Given the description of an element on the screen output the (x, y) to click on. 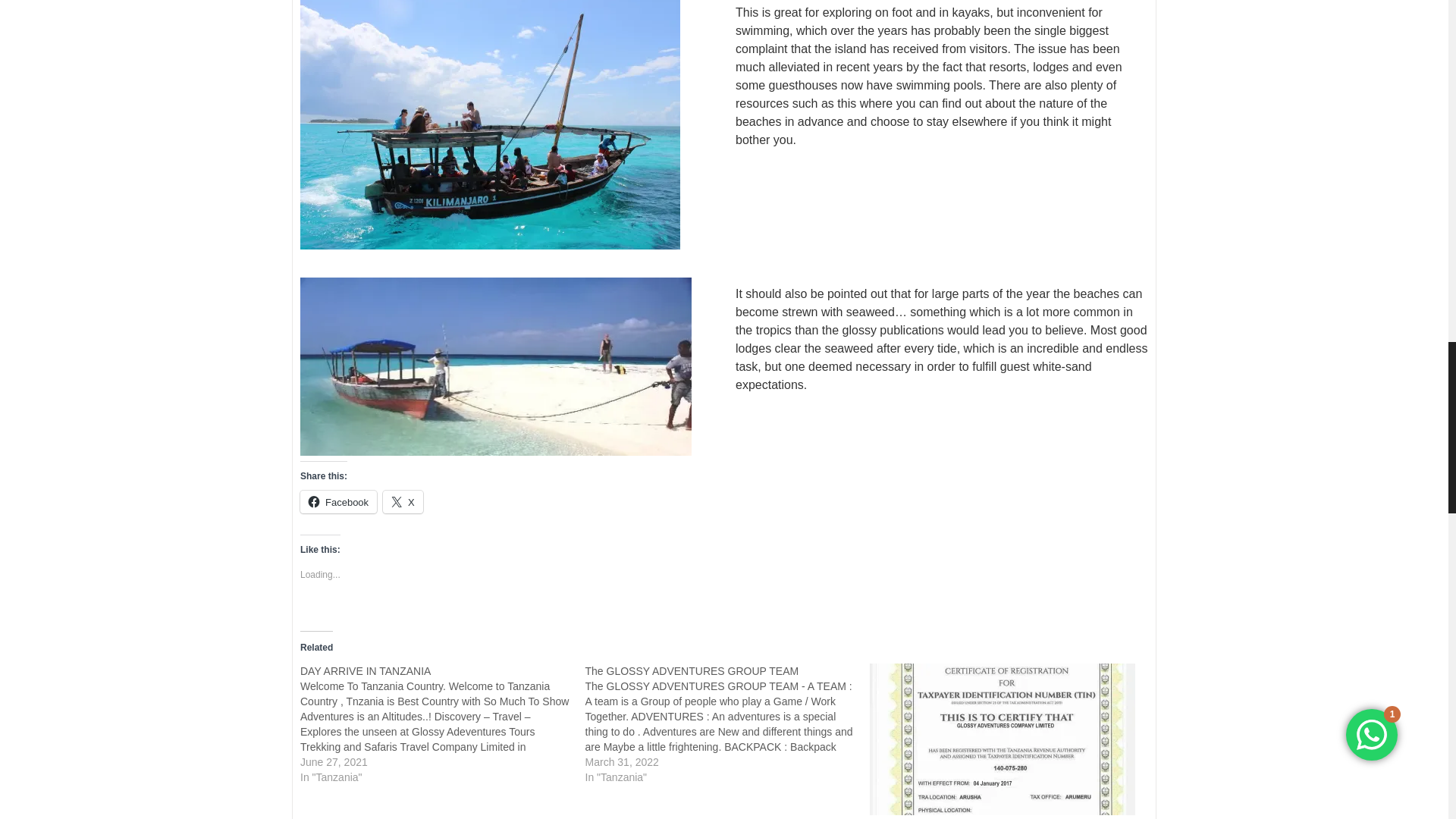
DAY ARRIVE IN TANZANIA (442, 723)
Click to share on Facebook (338, 501)
Click to share on X (402, 501)
The GLOSSY ADVENTURES GROUP TEAM (692, 671)
The GLOSSY ADVENTURES GROUP TEAM (727, 723)
DAY ARRIVE IN TANZANIA (364, 671)
